Given the description of an element on the screen output the (x, y) to click on. 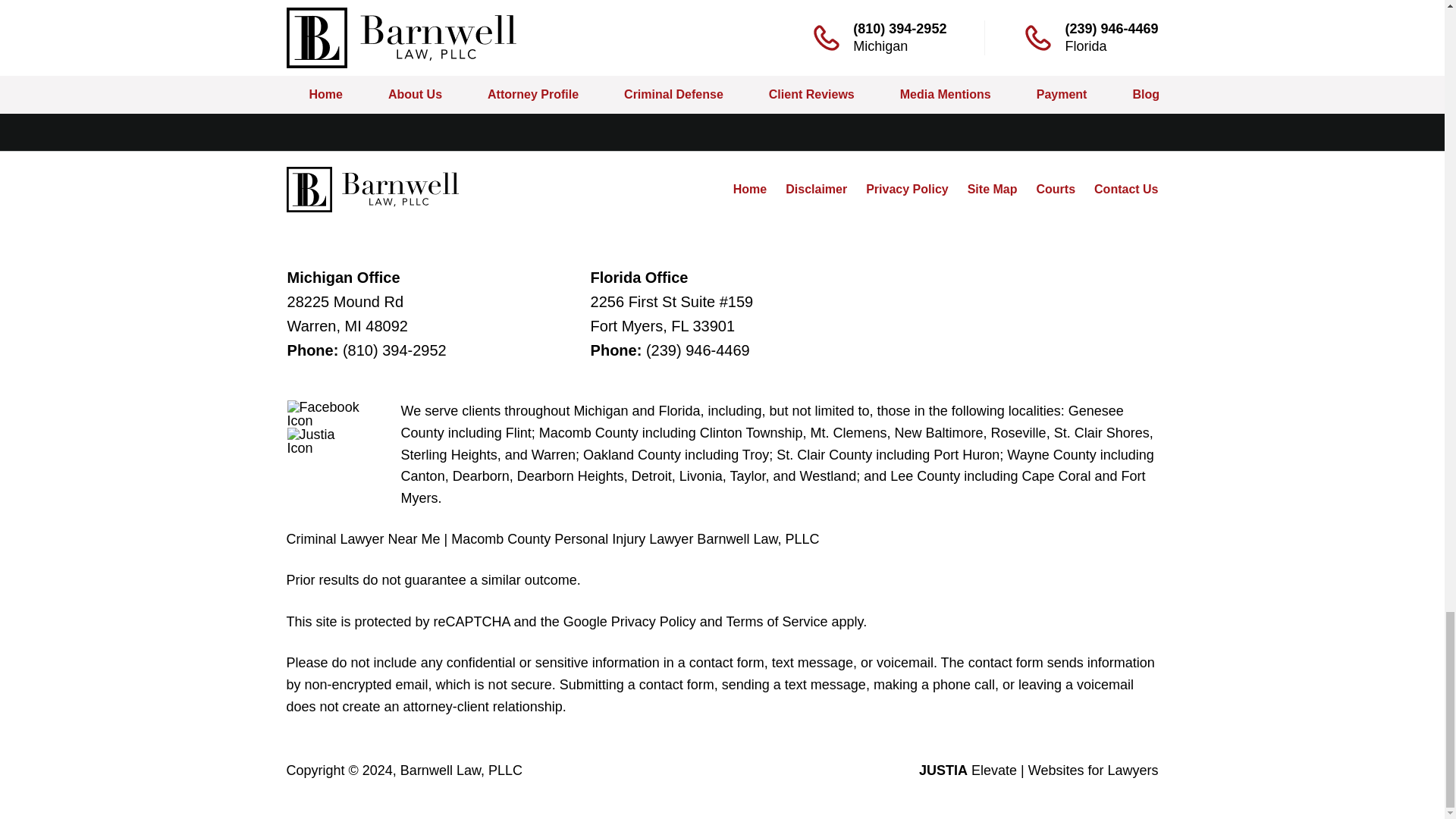
Privacy Policy (907, 188)
Disclaimer (816, 188)
Facebook (323, 413)
Barnwell Law, PLLC (461, 770)
Justia (323, 441)
Google Privacy Policy (629, 621)
Courts (1055, 188)
Contact Us Now (950, 24)
Terms of Service (776, 621)
Home (750, 188)
Site Map (992, 188)
Contact Us (1125, 188)
